Given the description of an element on the screen output the (x, y) to click on. 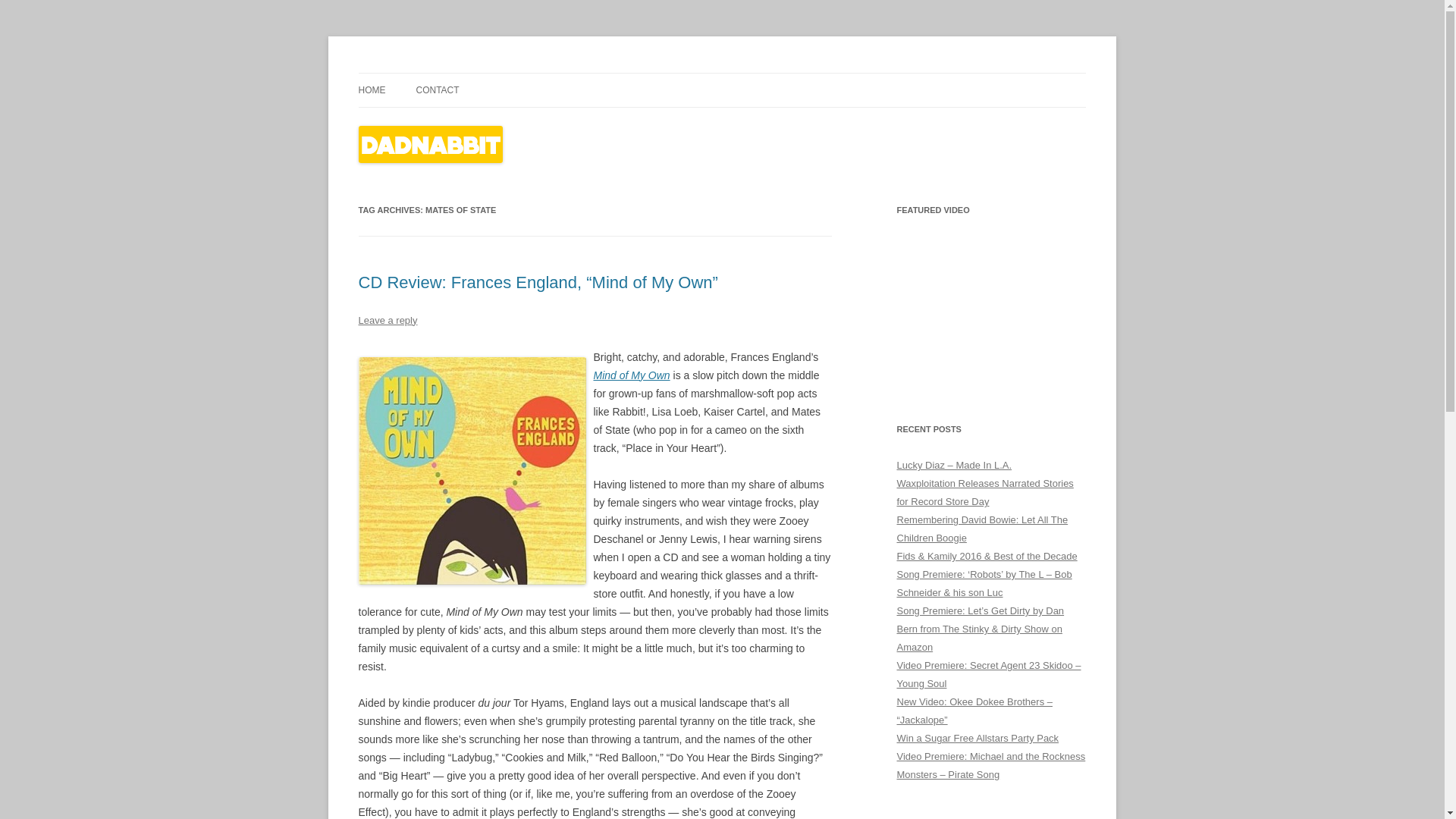
Win a Sugar Free Allstars Party Pack (977, 737)
Waxploitation Releases Narrated Stories for Record Store Day (984, 491)
Mind of My Own (630, 375)
Dadnabbit (406, 72)
CONTACT (436, 90)
Remembering David Bowie: Let All The Children Boogie (981, 528)
Leave a reply (387, 319)
